Given the description of an element on the screen output the (x, y) to click on. 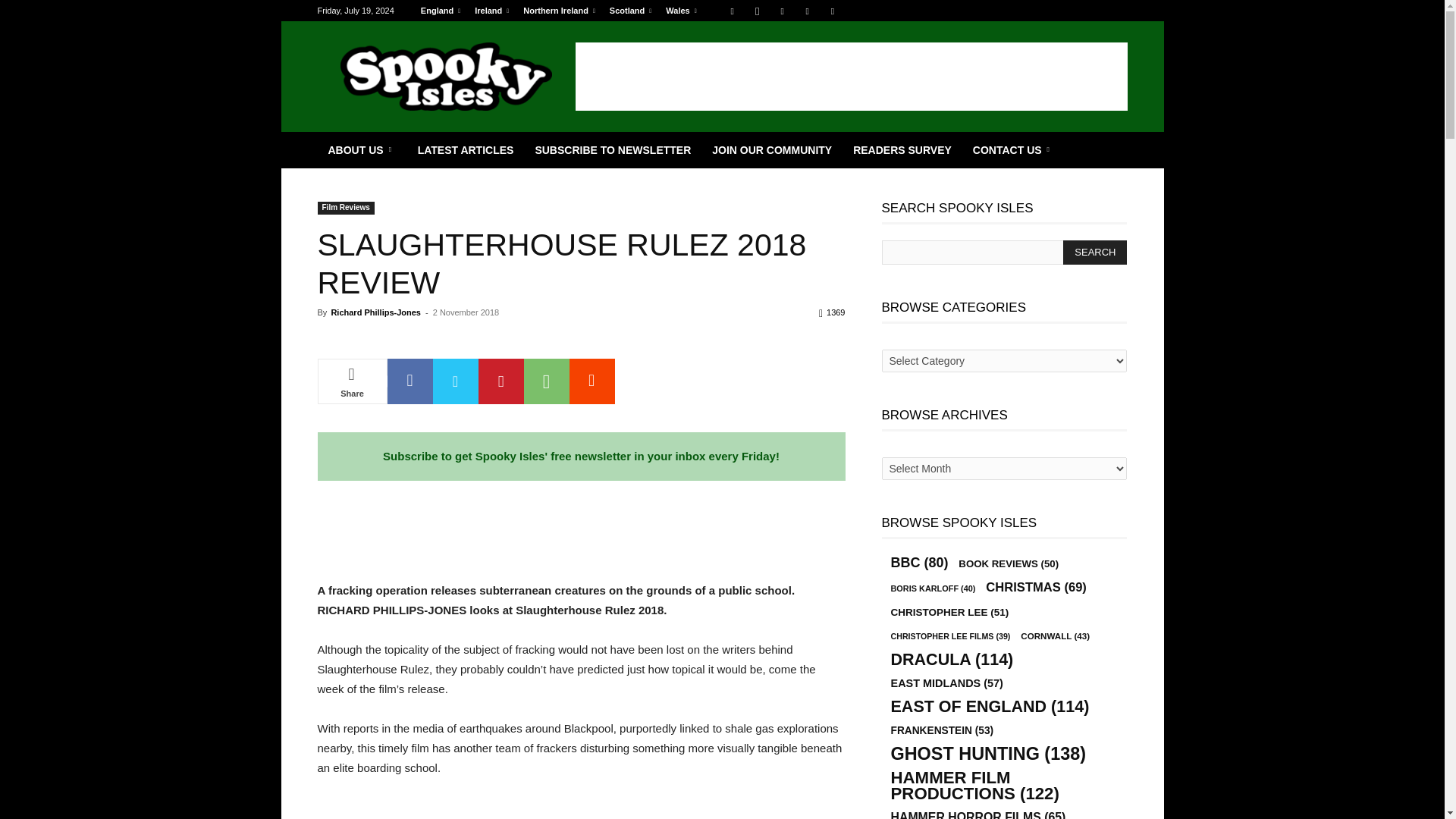
England (440, 10)
Facebook (732, 10)
Spooky Isles (445, 76)
topFacebookLike (430, 340)
Advertisement (850, 76)
Instagram (756, 10)
Pinterest (782, 10)
Twitter (807, 10)
Search (1094, 252)
Youtube (832, 10)
Facebook (409, 381)
